Given the description of an element on the screen output the (x, y) to click on. 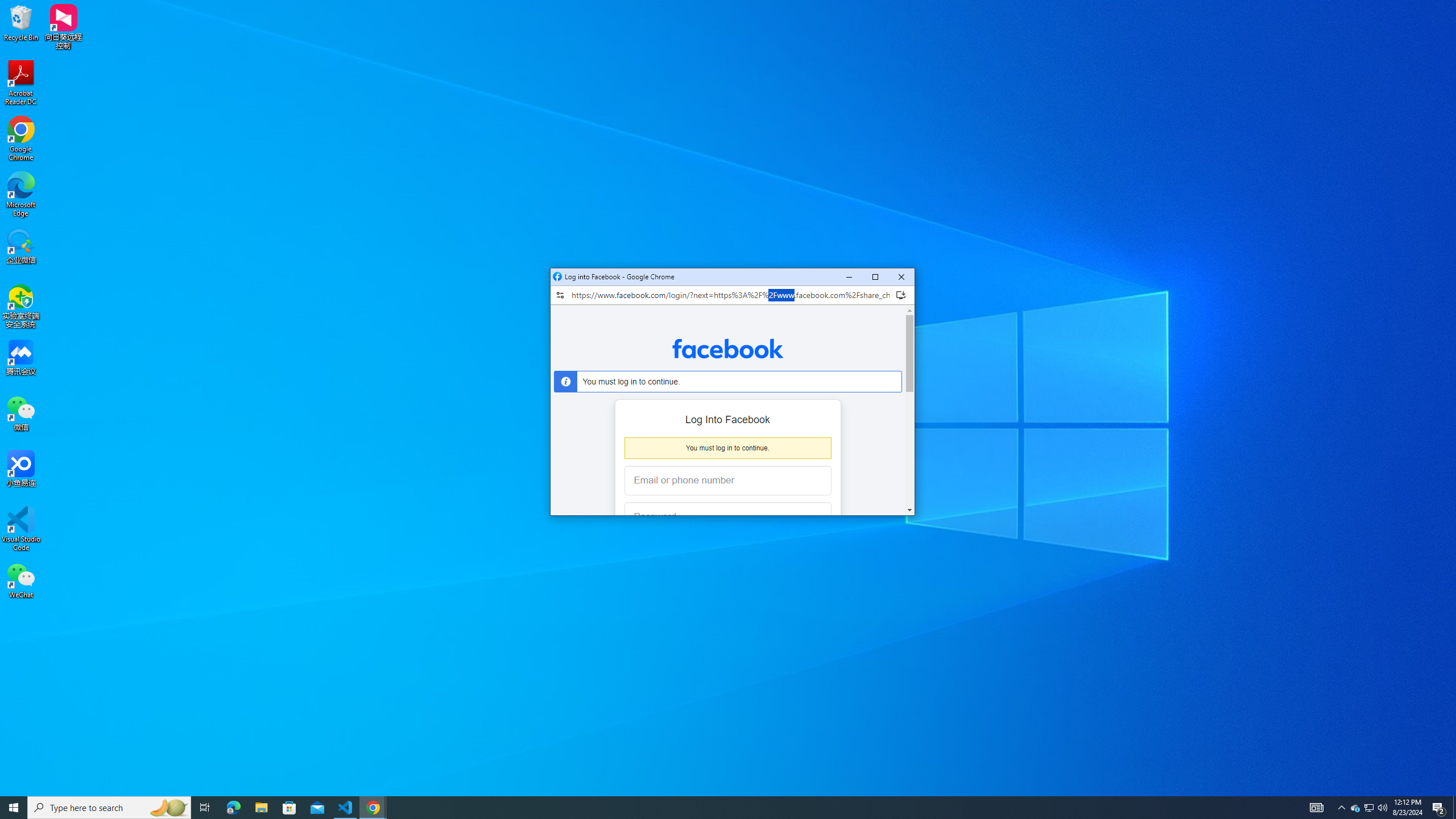
Install Facebook (900, 295)
Visual Studio Code (21, 528)
Start (13, 807)
Show desktop (1454, 807)
Google Chrome (21, 138)
Maximize (874, 276)
Acrobat Reader DC (21, 82)
Google Chrome - 2 running windows (373, 807)
User Promoted Notification Area (1368, 807)
Search highlights icon opens search home window (167, 807)
WeChat (21, 580)
Facebook (727, 348)
